Given the description of an element on the screen output the (x, y) to click on. 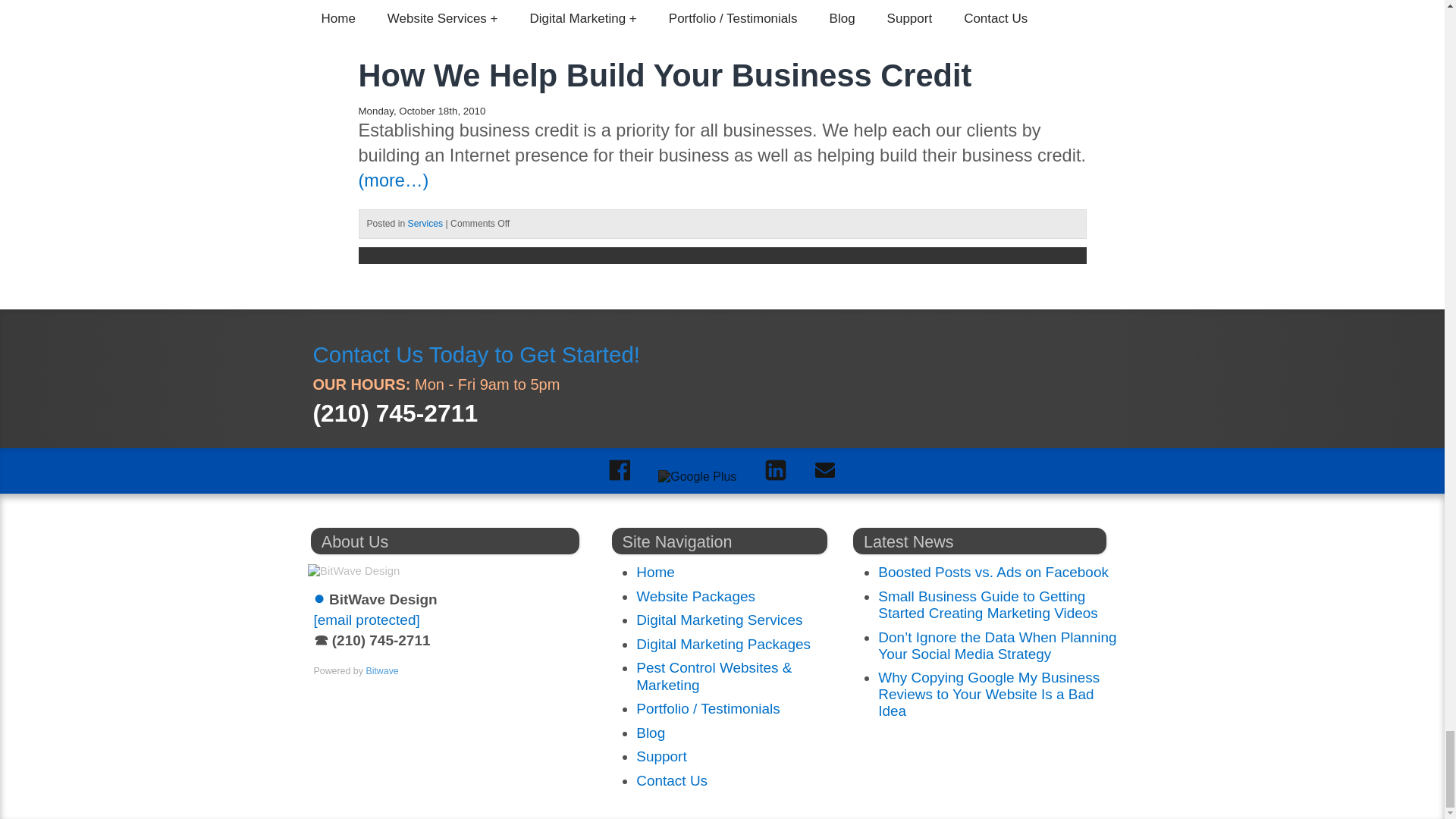
Permanent Link to How We Help Build Your Business Credit (664, 75)
How We Help Build Your Business Credit (664, 75)
mixing-ingredients (911, 26)
